Given the description of an element on the screen output the (x, y) to click on. 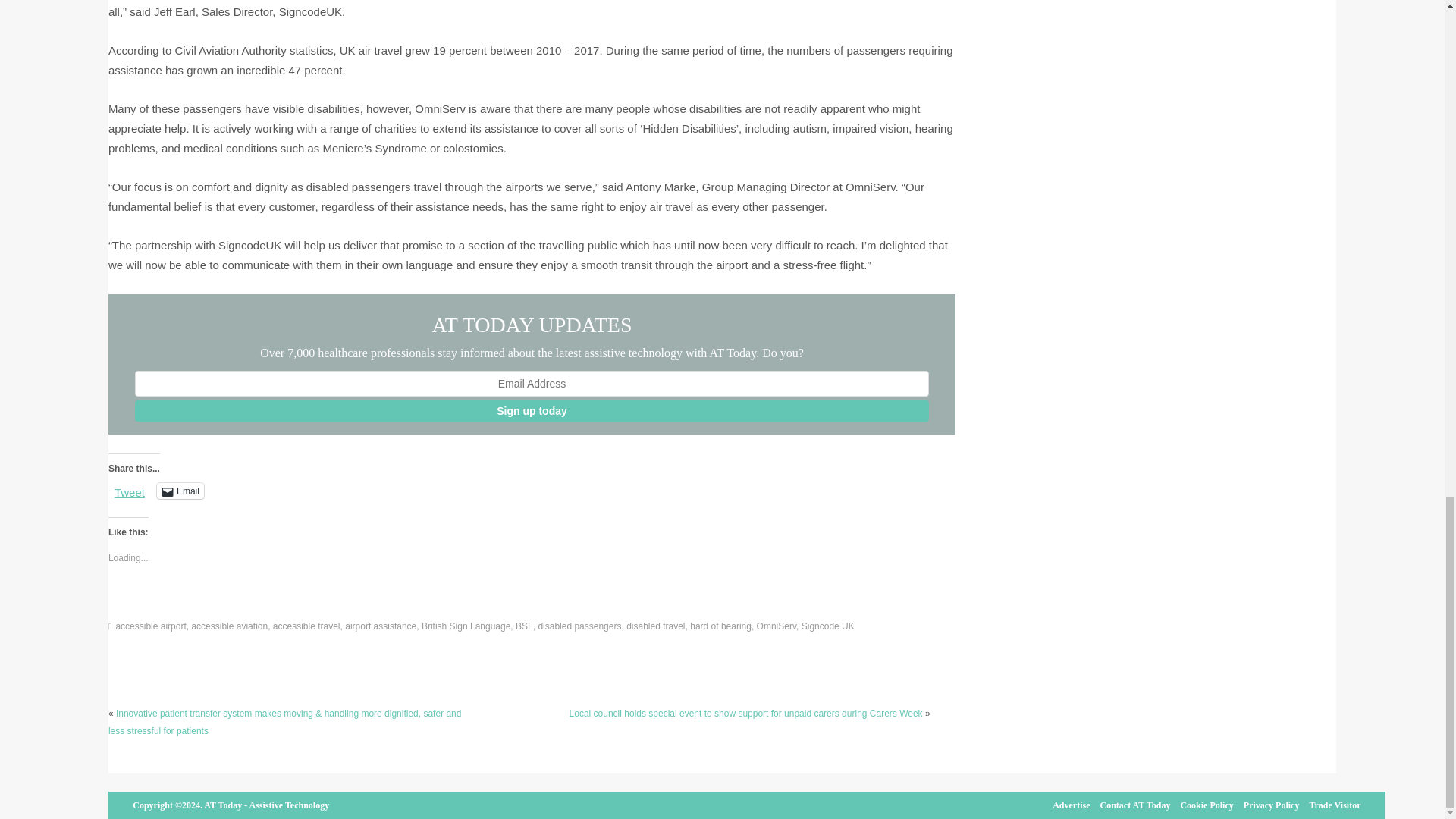
Sign up today (531, 410)
